Given the description of an element on the screen output the (x, y) to click on. 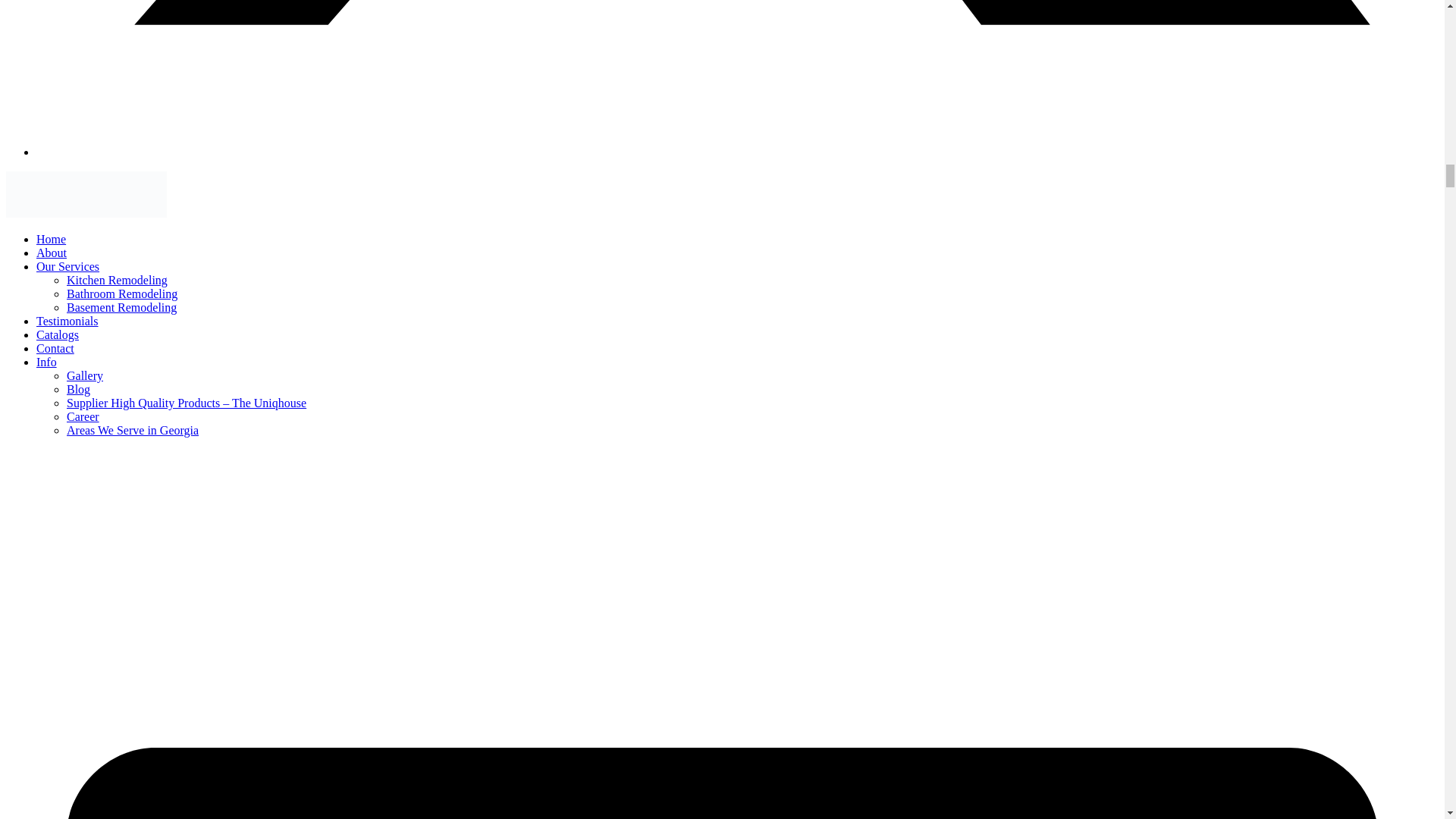
Career (82, 416)
Click Here (51, 252)
Areas We Serve in Georgia (132, 430)
About (51, 252)
Testimonials (67, 320)
Gallery (84, 375)
Blog (78, 389)
Contact (55, 348)
Info (46, 361)
Catalogs (57, 334)
